Given the description of an element on the screen output the (x, y) to click on. 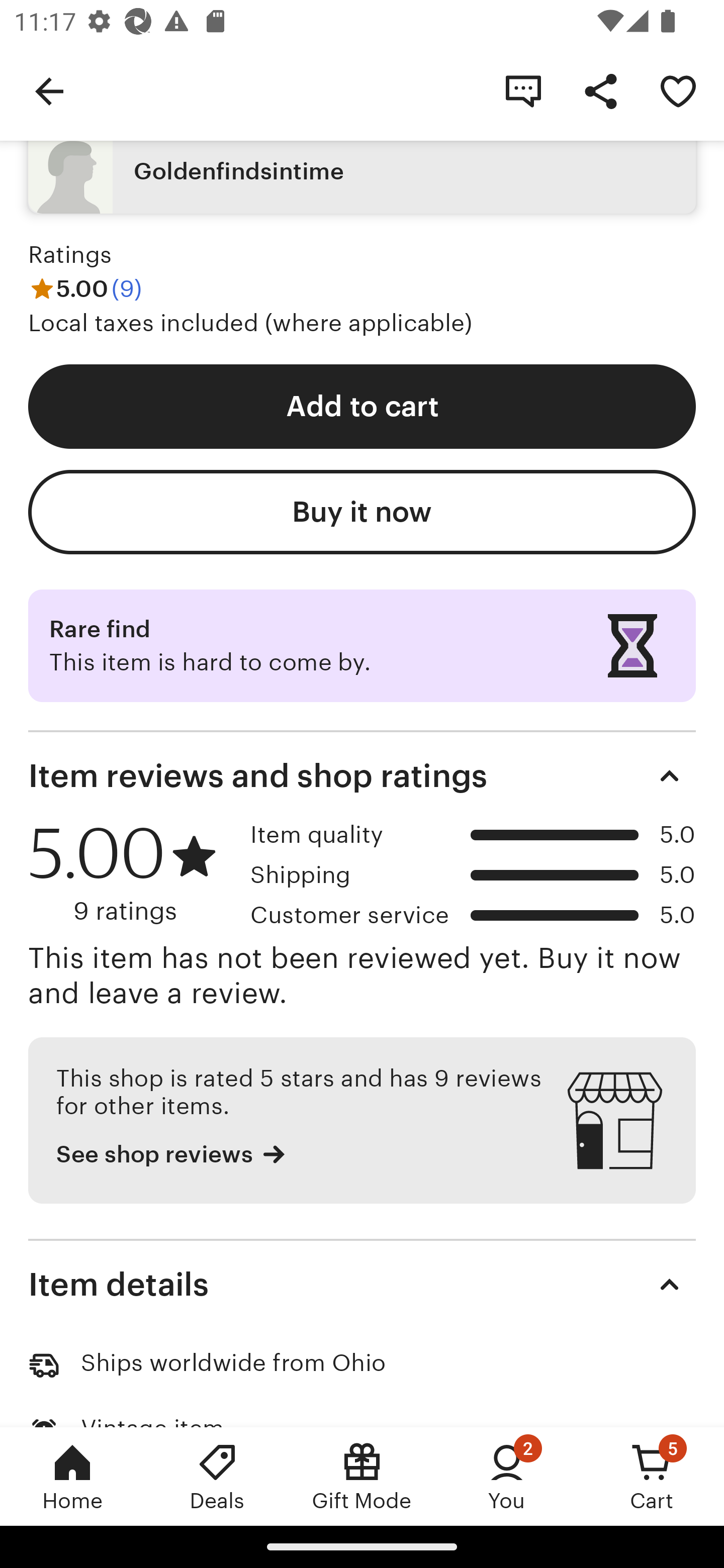
Navigate up (49, 90)
Contact shop (523, 90)
Share (600, 90)
Goldenfindsintime (361, 170)
Ratings (70, 254)
5.00 (9) (85, 288)
Add to cart (361, 405)
Buy it now (361, 512)
Item reviews and shop ratings (362, 775)
5.00 9 ratings (132, 873)
Item details (362, 1283)
Deals (216, 1475)
Gift Mode (361, 1475)
You, 2 new notifications You (506, 1475)
Cart, 5 new notifications Cart (651, 1475)
